Given the description of an element on the screen output the (x, y) to click on. 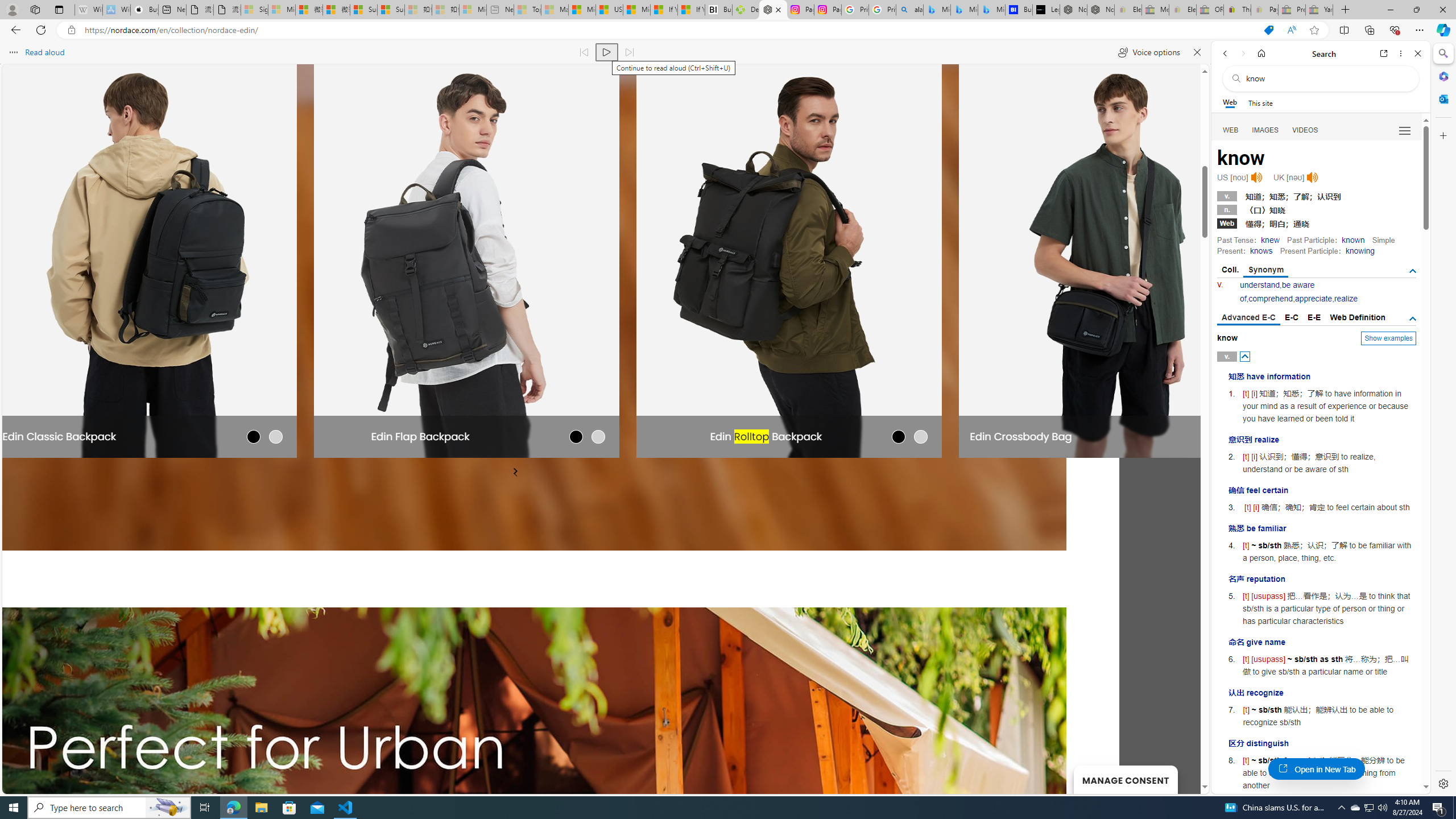
comprehend (1269, 298)
Microsoft Bing Travel - Flights from Hong Kong to Bangkok (936, 9)
This site scope (1259, 102)
Synonym (1265, 270)
Web scope (1230, 102)
